Given the description of an element on the screen output the (x, y) to click on. 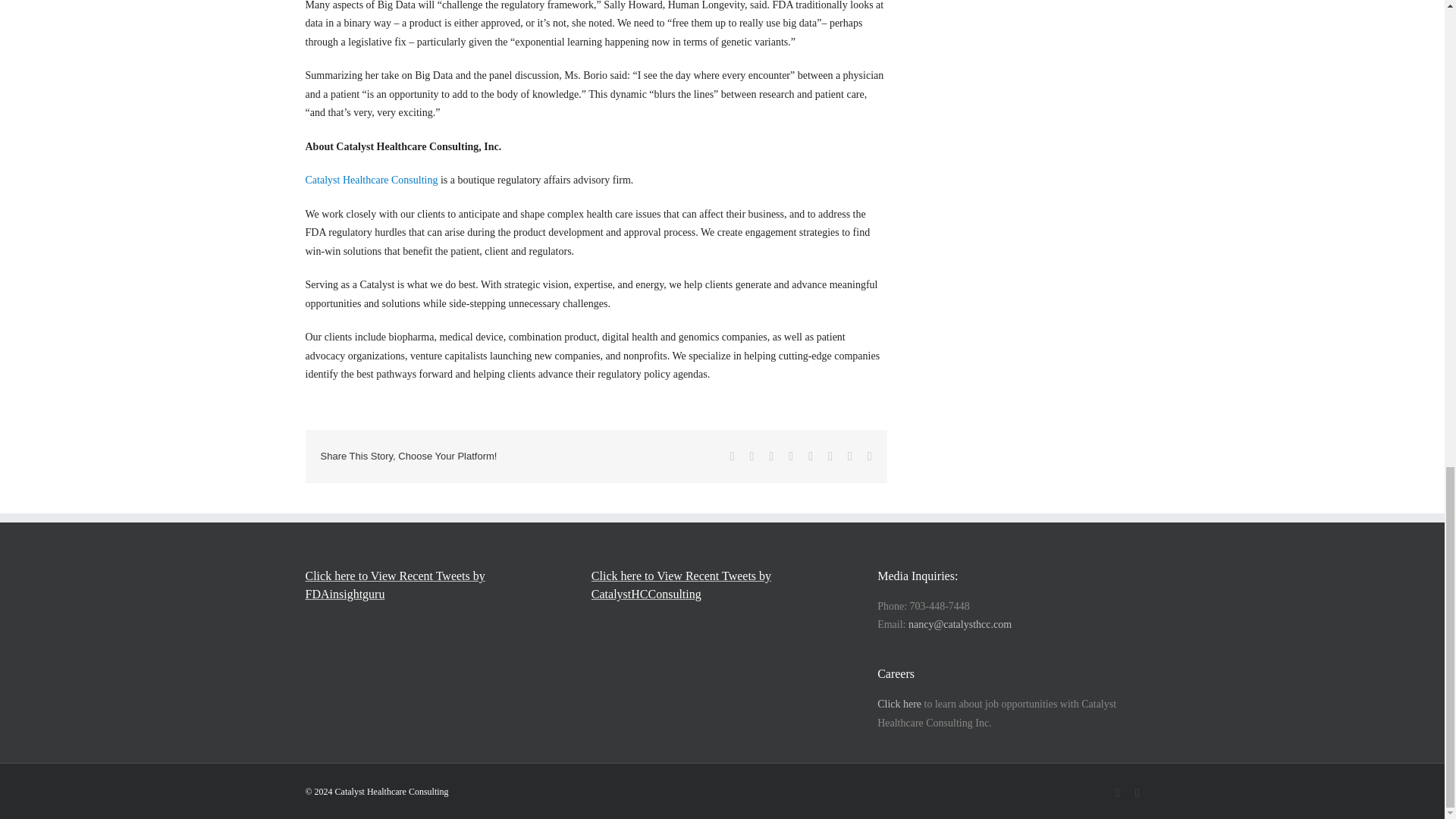
Catalyst Healthcare Consulting (371, 179)
Click here to View Recent Tweets by FDAinsightguru (435, 585)
Click here (899, 704)
Click here to View Recent Tweets by CatalystHCConsulting (722, 585)
